Given the description of an element on the screen output the (x, y) to click on. 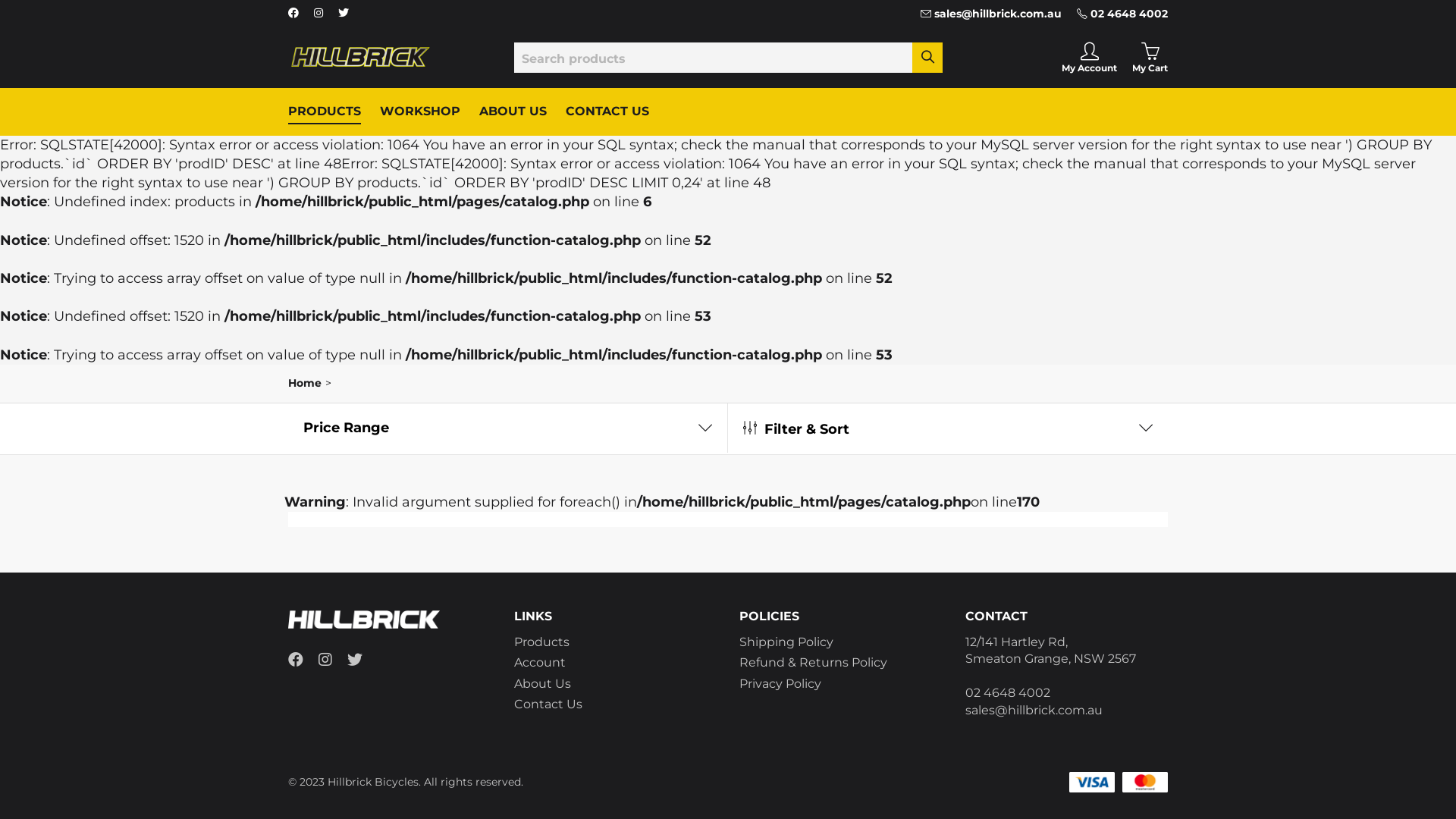
My Account Element type: text (1089, 57)
Products Element type: text (541, 641)
Privacy Policy Element type: text (780, 683)
Account Element type: text (539, 662)
Refund & Returns Policy Element type: text (813, 662)
02 4648 4002 Element type: text (1121, 13)
Contact Us Element type: text (548, 703)
WORKSHOP Element type: text (419, 110)
My Cart Element type: text (1149, 57)
PRODUCTS Element type: text (324, 110)
ABOUT US Element type: text (512, 110)
Shipping Policy Element type: text (786, 641)
Home Element type: text (304, 382)
About Us Element type: text (542, 683)
CONTACT US Element type: text (607, 110)
sales@hillbrick.com.au Element type: text (990, 13)
